Given the description of an element on the screen output the (x, y) to click on. 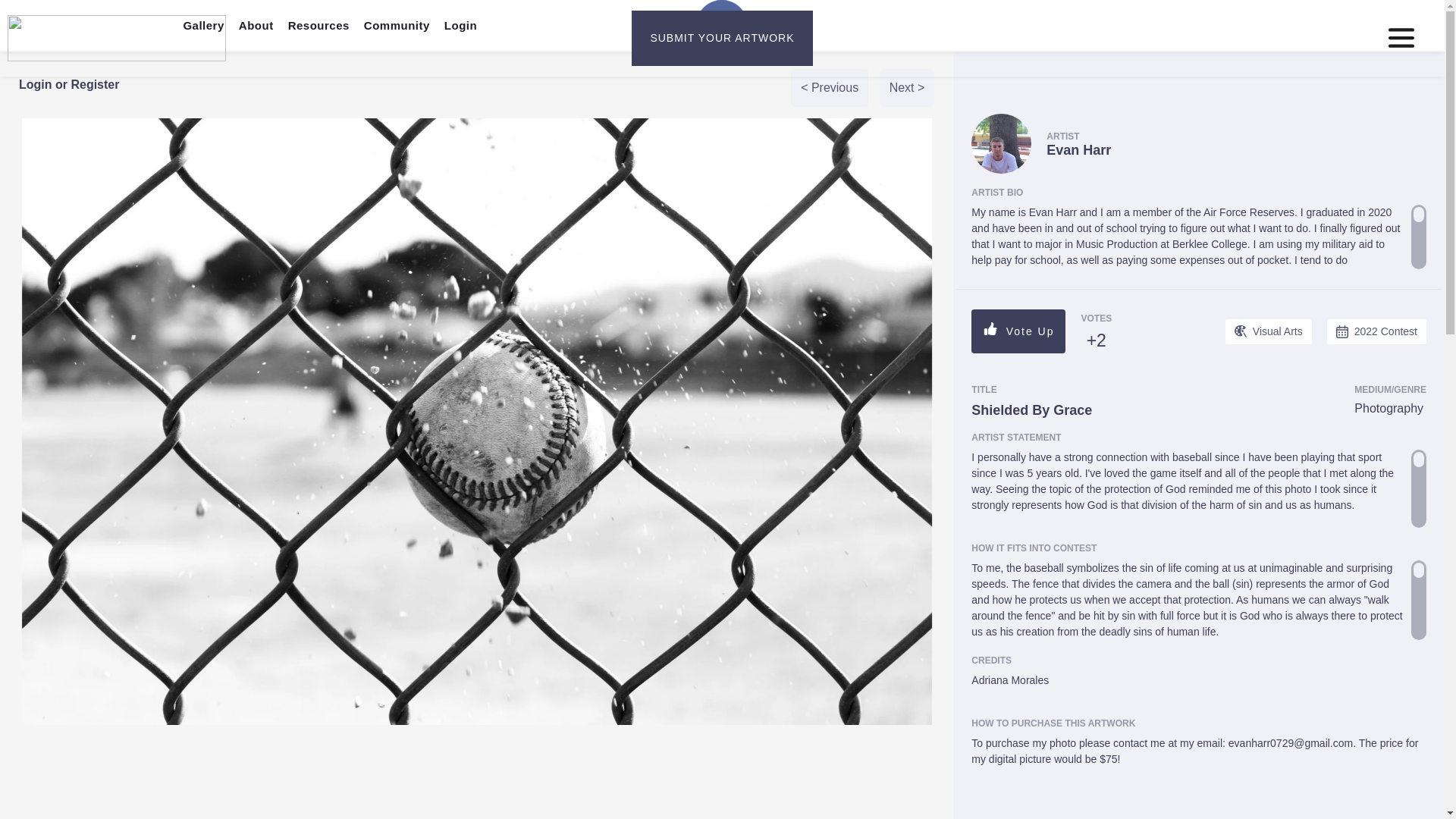
Adriana Morales (1198, 687)
Adriana Morales (1198, 687)
